Given the description of an element on the screen output the (x, y) to click on. 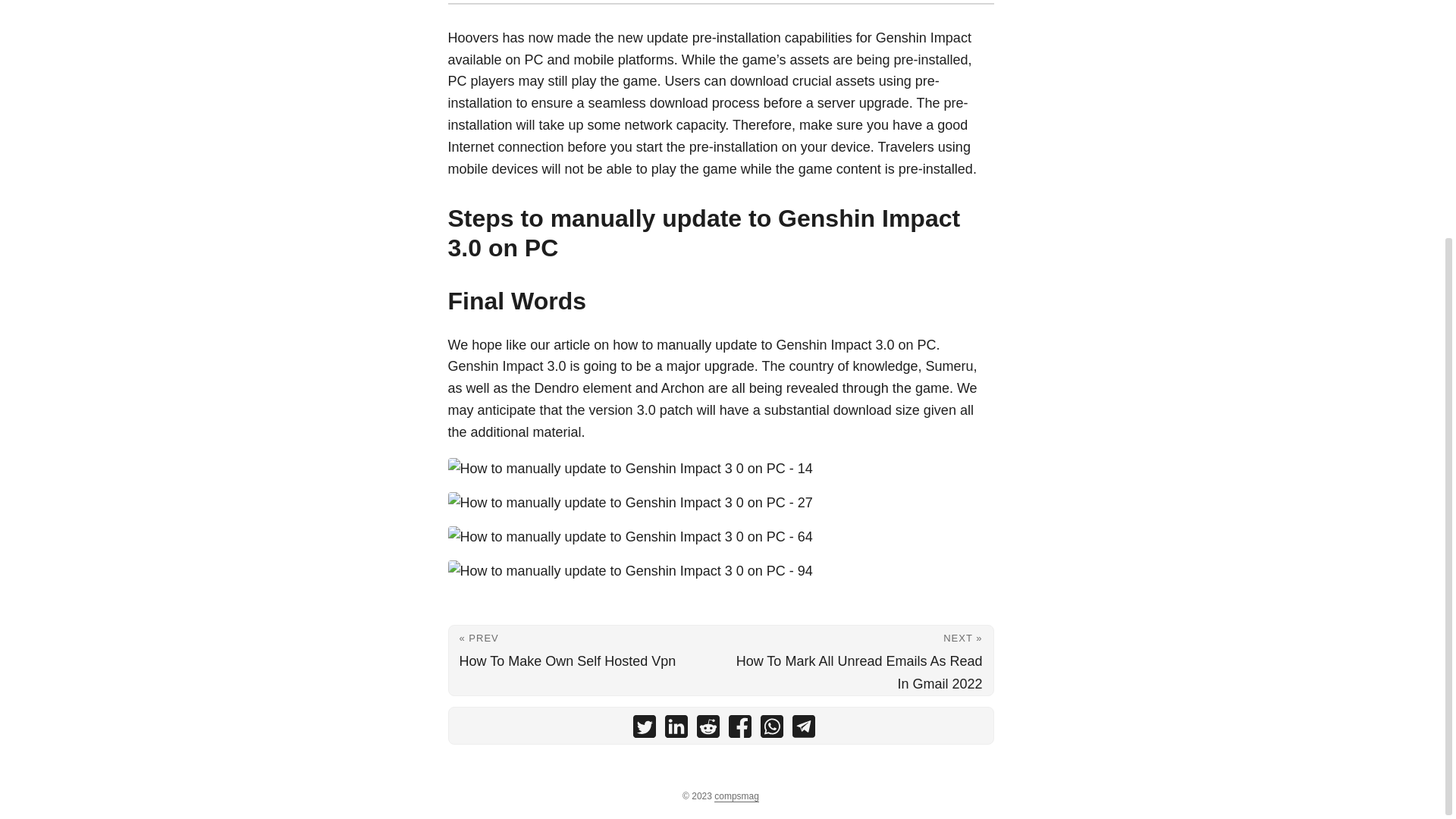
compsmag (736, 796)
